Given the description of an element on the screen output the (x, y) to click on. 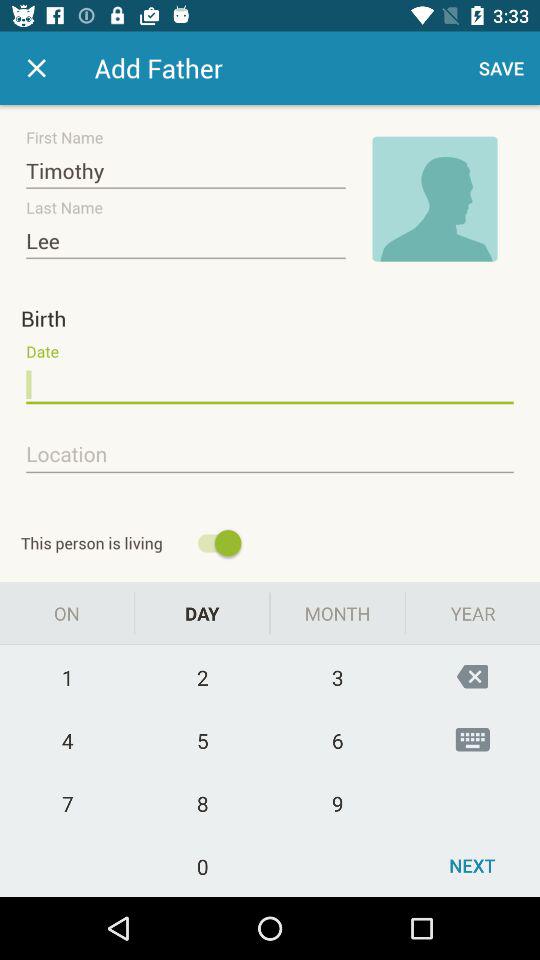
view profile (435, 199)
